Given the description of an element on the screen output the (x, y) to click on. 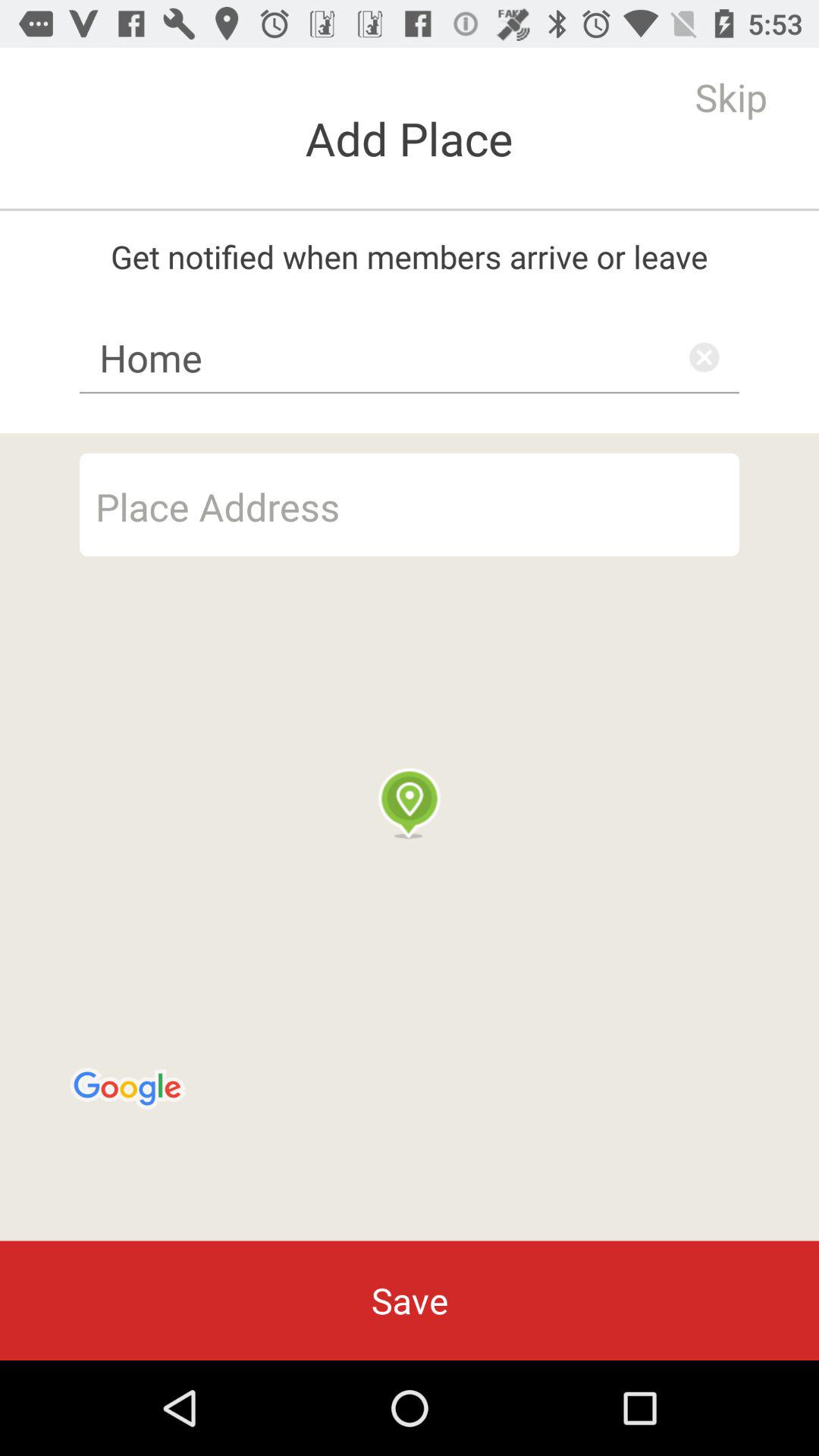
scroll until the save icon (409, 1300)
